Given the description of an element on the screen output the (x, y) to click on. 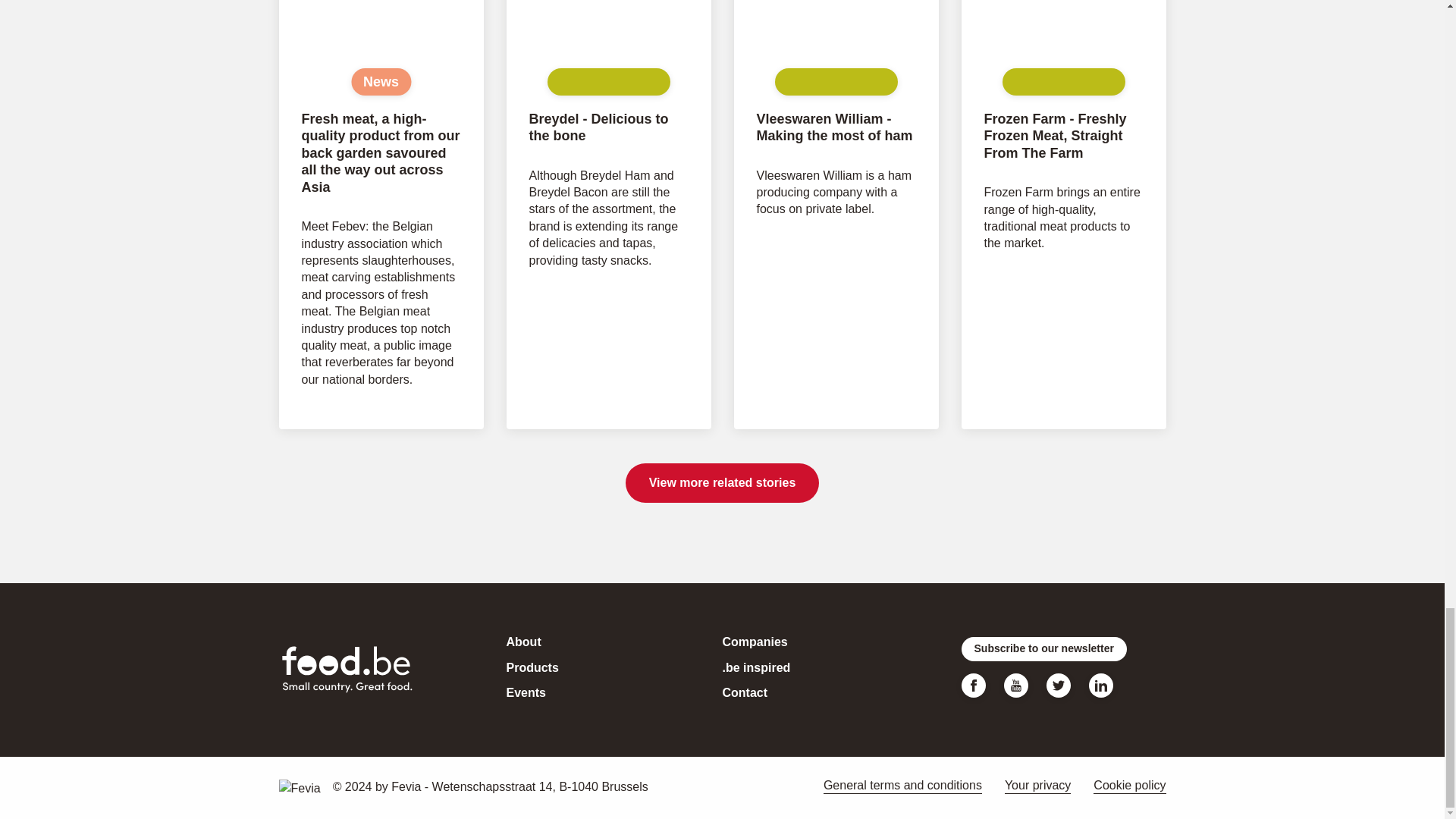
Events (526, 692)
.be inspired (756, 667)
Companies (754, 641)
About (523, 641)
Contact (744, 692)
View more related stories (722, 482)
Products (532, 667)
Subscribe to our newsletter (1043, 648)
General terms and conditions (902, 785)
Your privacy (1037, 785)
